Given the description of an element on the screen output the (x, y) to click on. 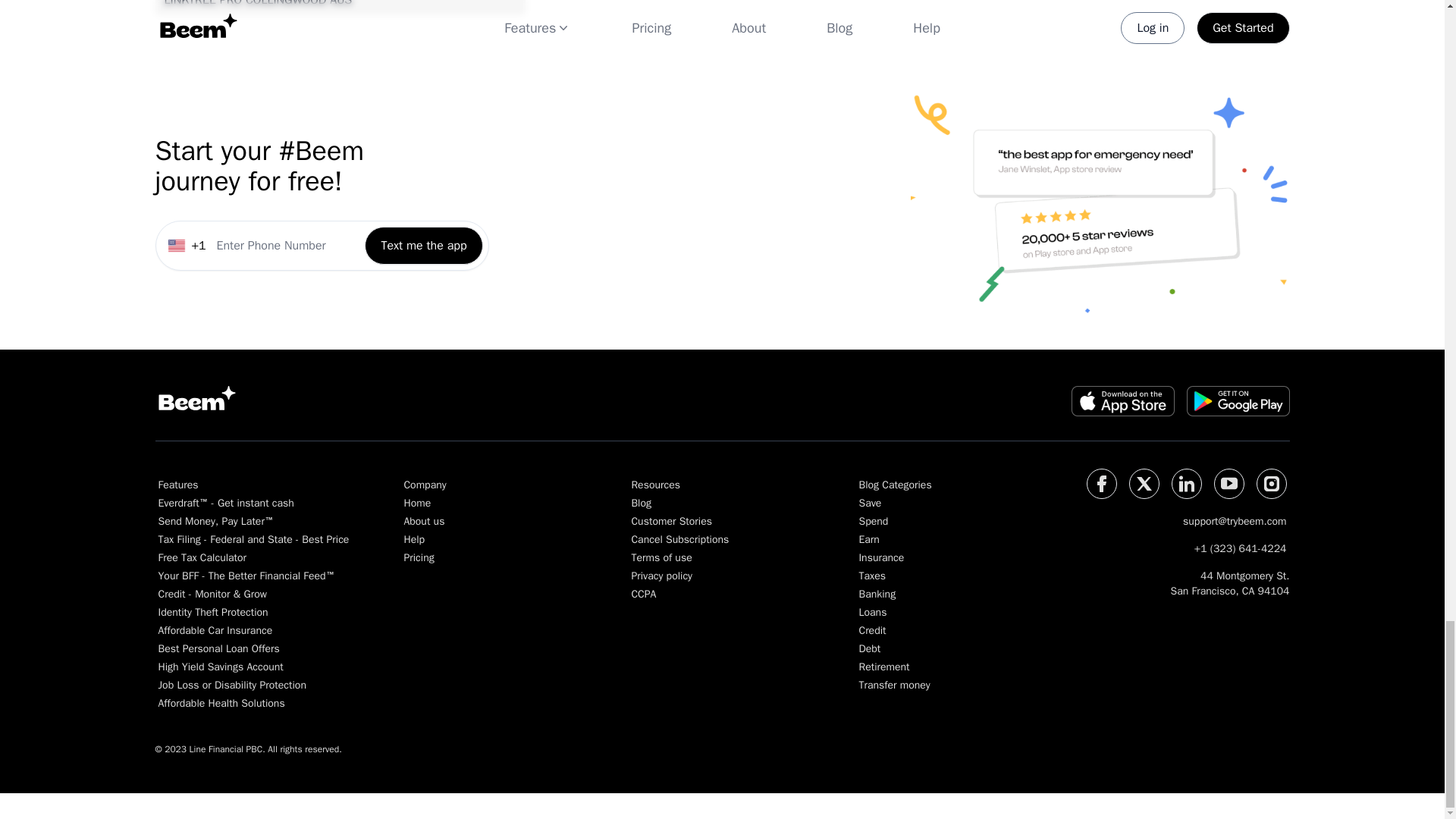
Best Personal Loan Offers (253, 648)
High Yield Savings Account (253, 667)
Identity Theft Protection (253, 612)
Home (489, 503)
Tax Filing - Federal and State - Best Price (253, 539)
Affordable Car Insurance (253, 630)
Text me the app (423, 277)
Free Tax Calculator (253, 557)
About us (489, 521)
Pricing (489, 557)
Job Loss or Disability Protection (253, 685)
Help (489, 539)
Affordable Health Solutions (253, 703)
